Given the description of an element on the screen output the (x, y) to click on. 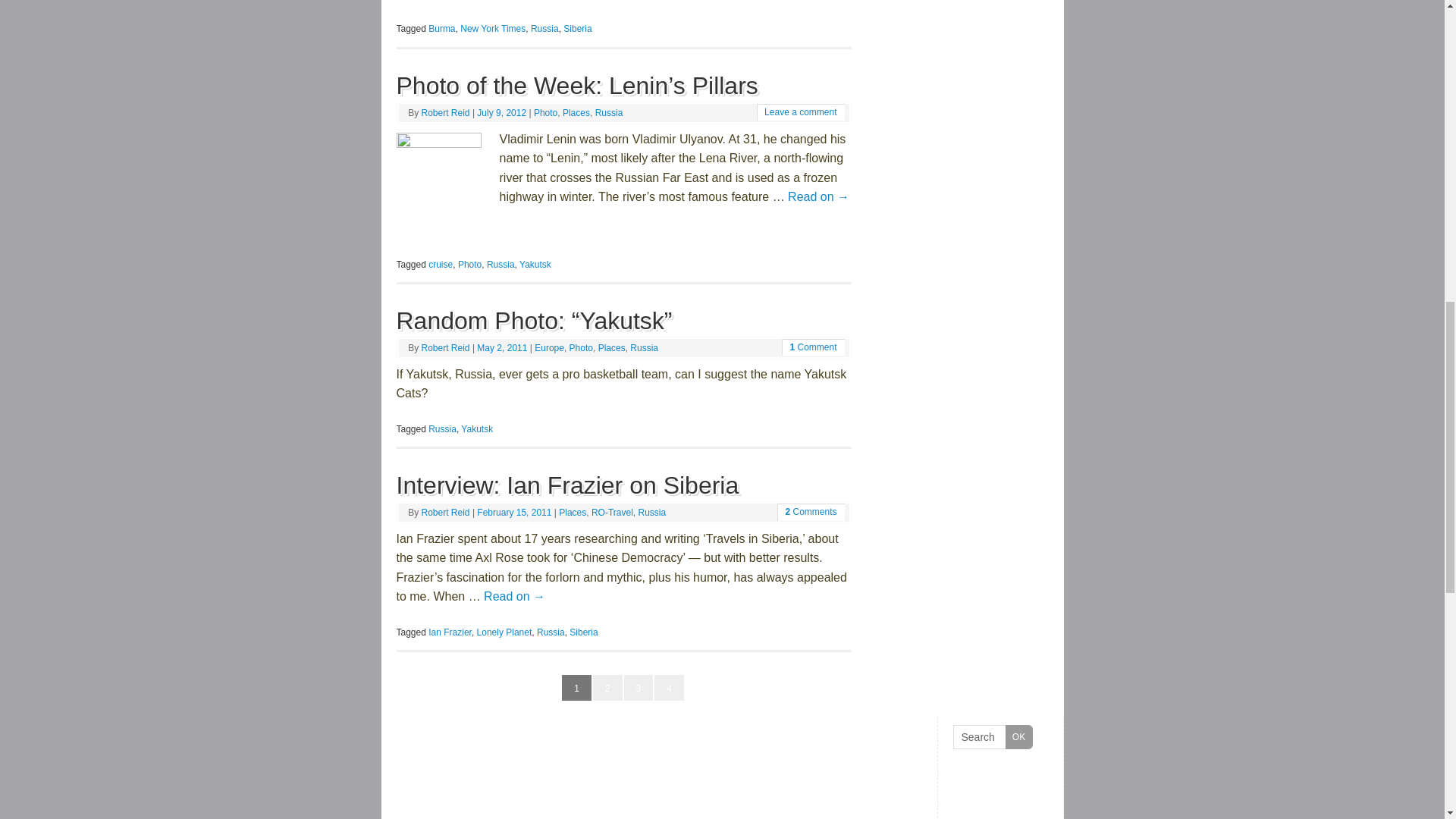
View all posts by Robert Reid (446, 112)
OK (1019, 736)
Search (992, 736)
